Given the description of an element on the screen output the (x, y) to click on. 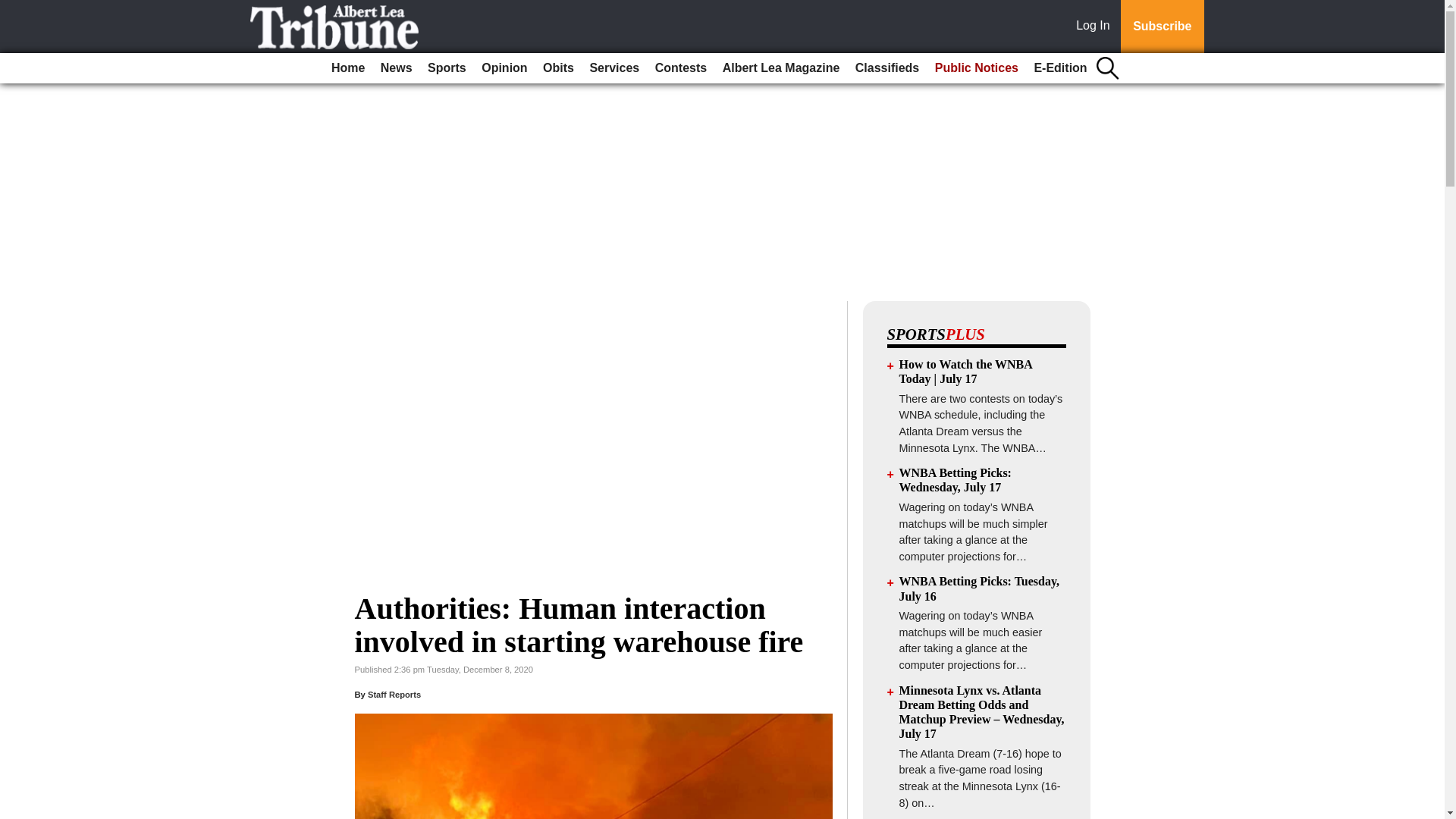
Opinion (504, 68)
Services (614, 68)
Home (347, 68)
Log In (1095, 26)
Subscribe (1162, 26)
Sports (446, 68)
Obits (558, 68)
News (396, 68)
